Given the description of an element on the screen output the (x, y) to click on. 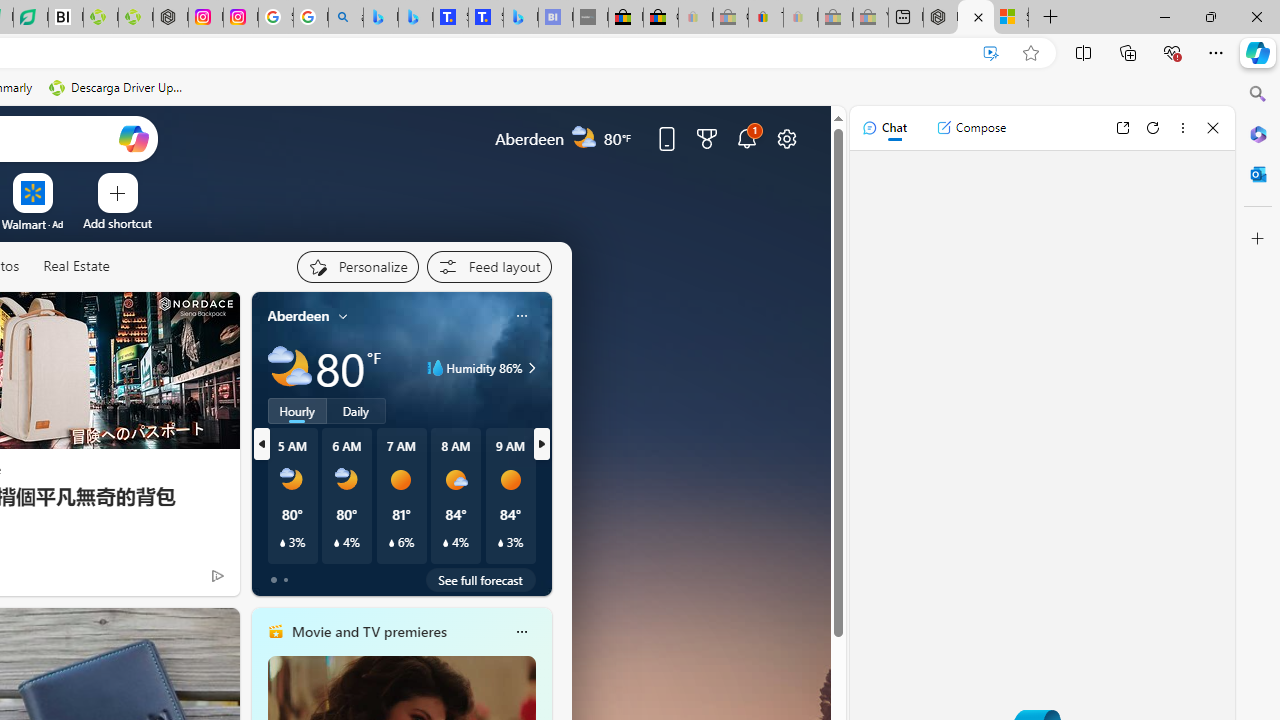
Class: weather-current-precipitation-glyph (500, 543)
Class: weather-arrow-glyph (531, 367)
